Given the description of an element on the screen output the (x, y) to click on. 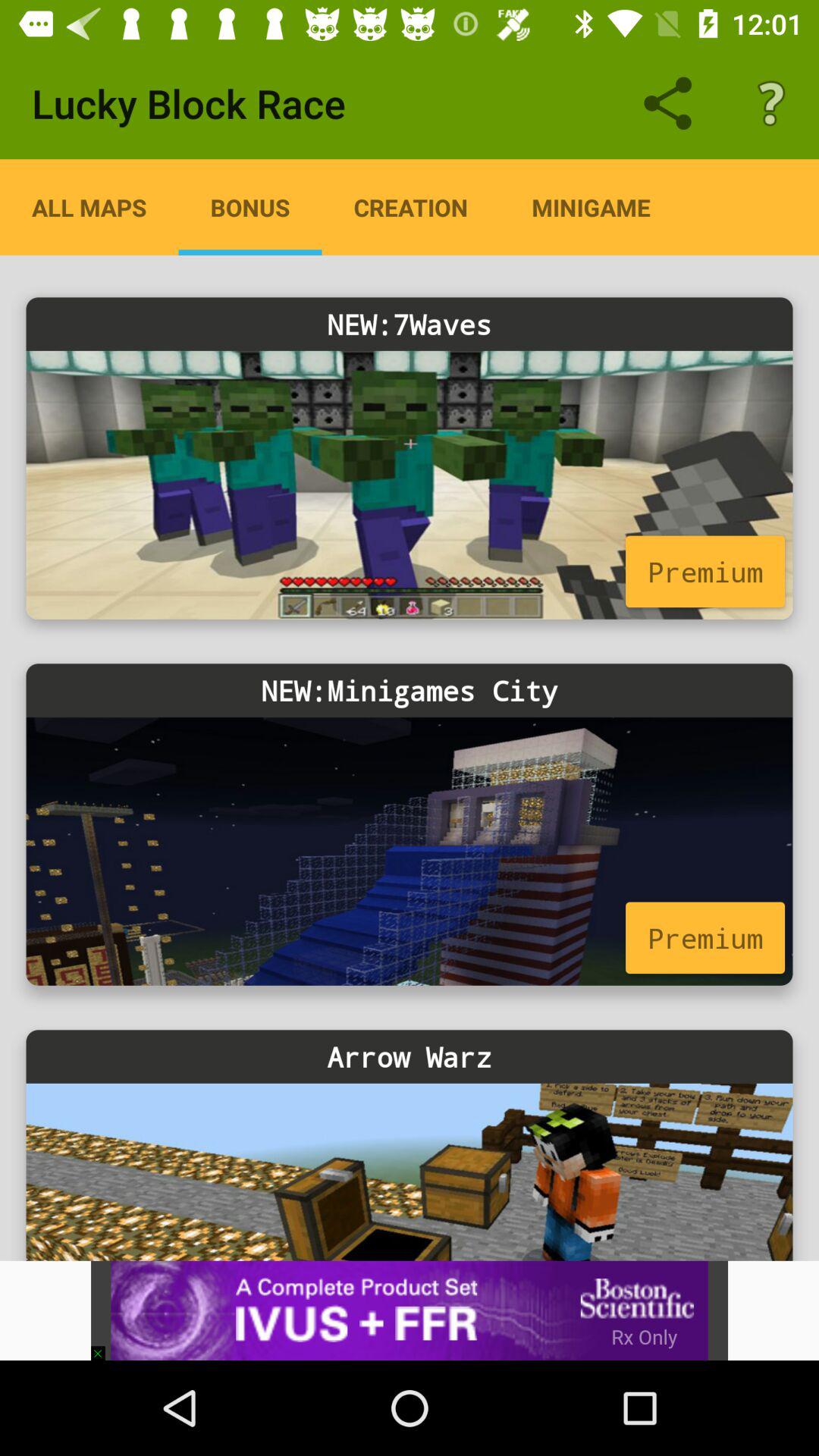
enlarge advertisement (409, 1310)
